Given the description of an element on the screen output the (x, y) to click on. 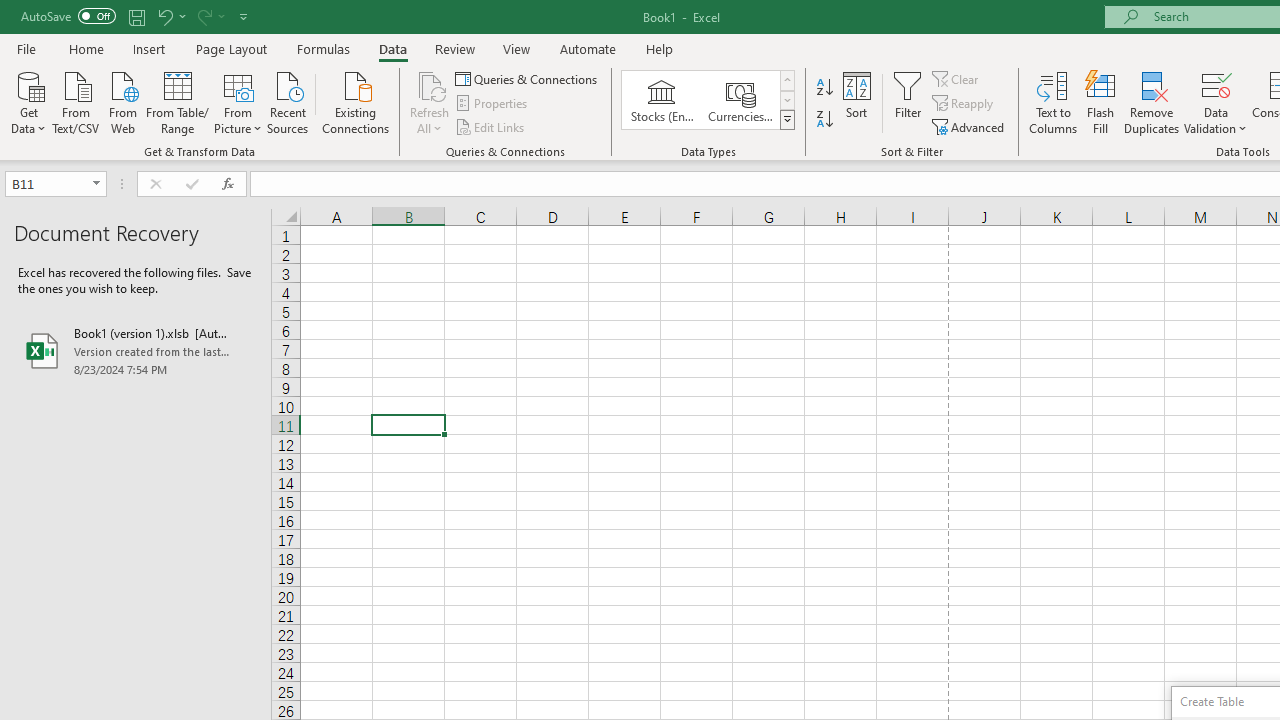
Advanced... (970, 126)
Data (392, 48)
Sort... (856, 102)
Flash Fill (1101, 102)
AutomationID: ConvertToLinkedEntity (708, 99)
Reapply (964, 103)
Redo (203, 15)
Refresh All (429, 84)
Help (660, 48)
Undo (170, 15)
From Table/Range (177, 101)
Queries & Connections (527, 78)
Sort A to Z (824, 87)
Recent Sources (287, 101)
